Given the description of an element on the screen output the (x, y) to click on. 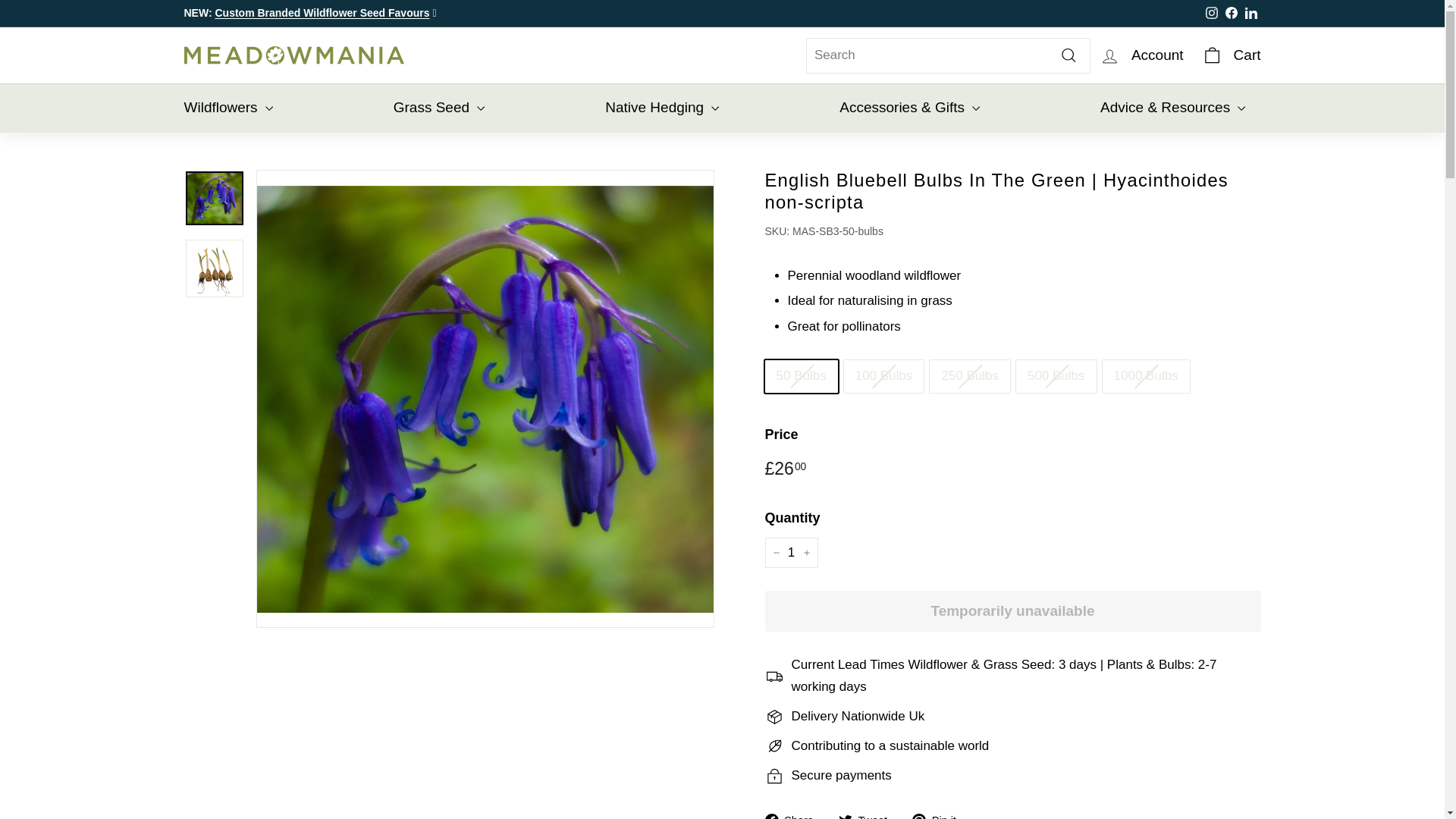
Account (1141, 55)
twitter (844, 816)
instagram (1211, 12)
1 (790, 552)
Tweet on Twitter (868, 814)
Custom-Designed Wildflower Seed Packets (321, 12)
Custom Branded Wildflower Seed Favours (321, 12)
Pin on Pinterest (940, 814)
Share on Facebook (794, 814)
